Given the description of an element on the screen output the (x, y) to click on. 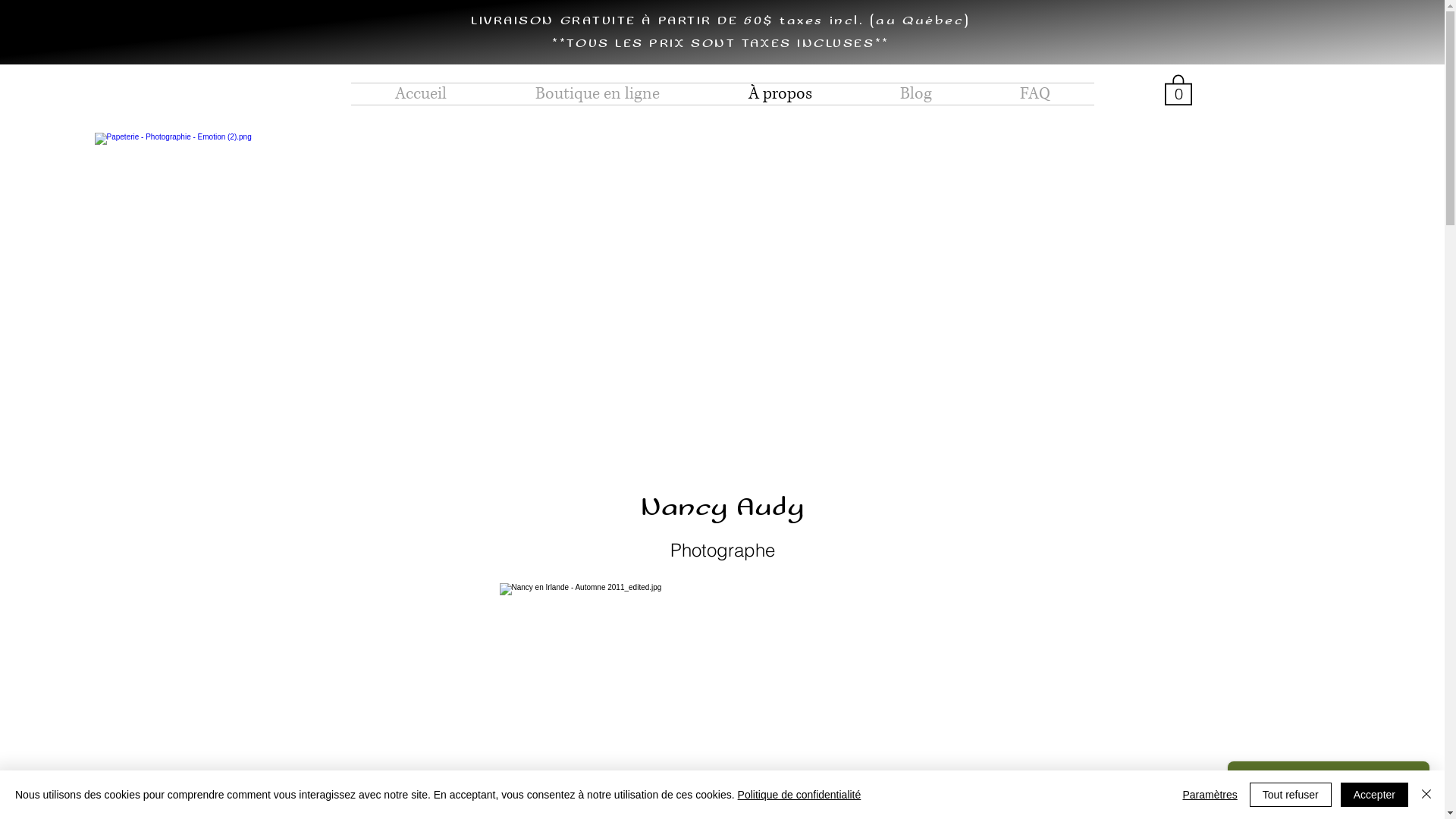
FAQ Element type: text (1034, 93)
Accepter Element type: text (1374, 794)
Boutique en ligne Element type: text (597, 93)
0 Element type: text (1178, 88)
Accueil Element type: text (420, 93)
Blog Element type: text (915, 93)
Tout refuser Element type: text (1290, 794)
